Given the description of an element on the screen output the (x, y) to click on. 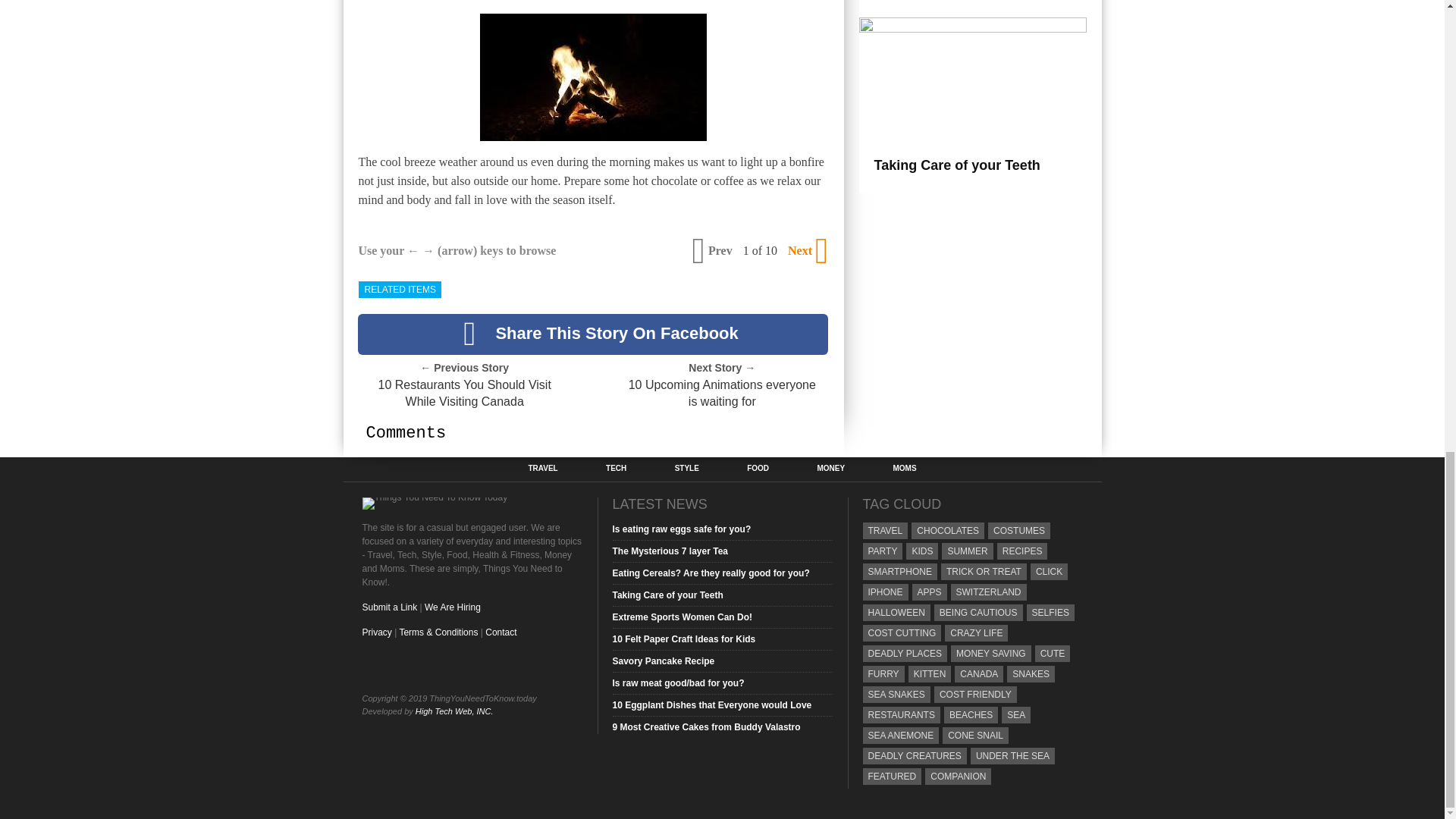
Next (806, 250)
Share This Story On Facebook (593, 333)
10 Upcoming Animations everyone is waiting for (722, 393)
10 Restaurants You Should Visit While Visiting Canada (463, 393)
Share on Facebook (593, 333)
